Given the description of an element on the screen output the (x, y) to click on. 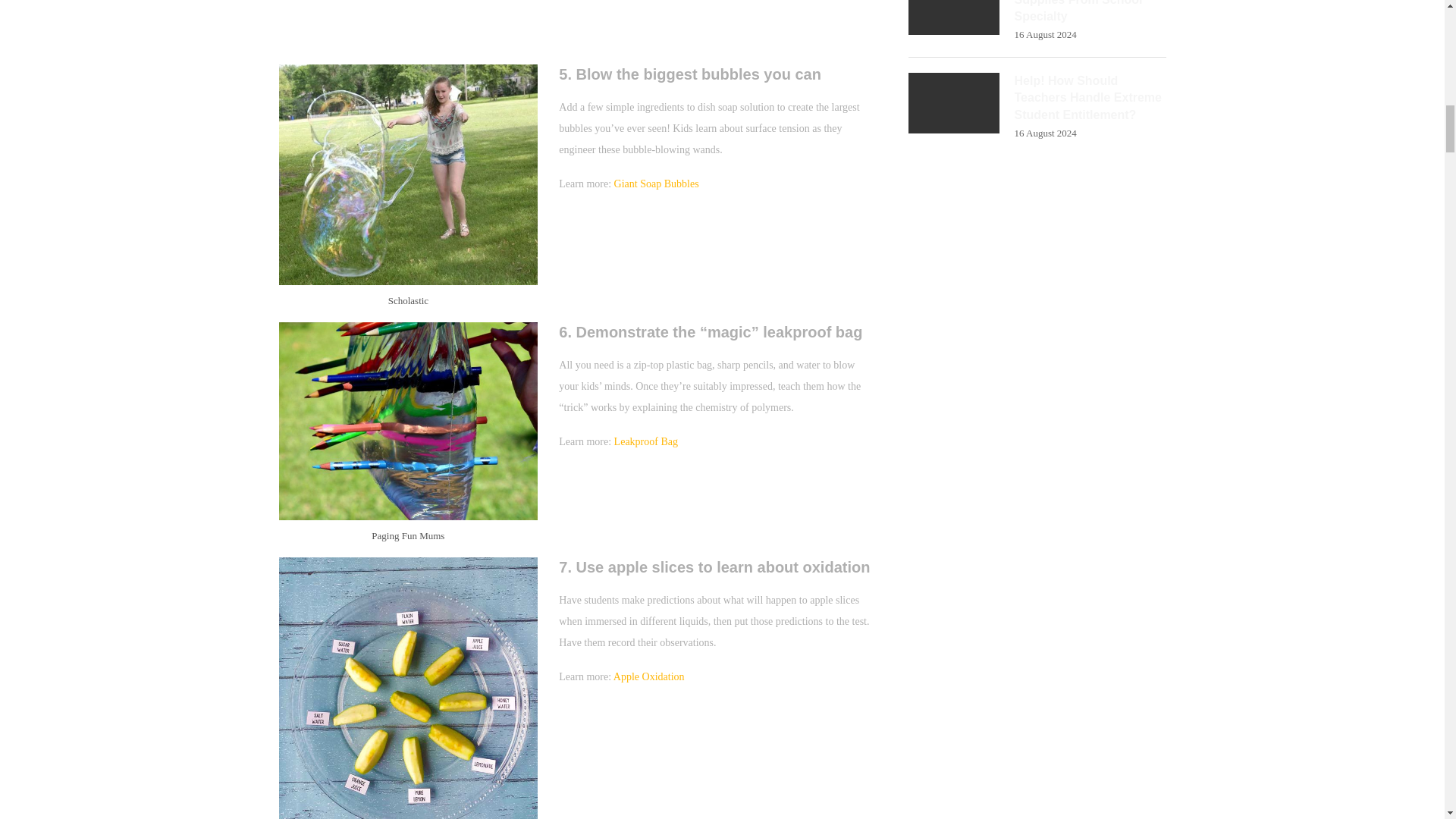
Giant Bubble Experiment (408, 174)
Easy Science Experiments: Leakproof Bag (408, 421)
Apple Oxidation Experiment (408, 688)
